Given the description of an element on the screen output the (x, y) to click on. 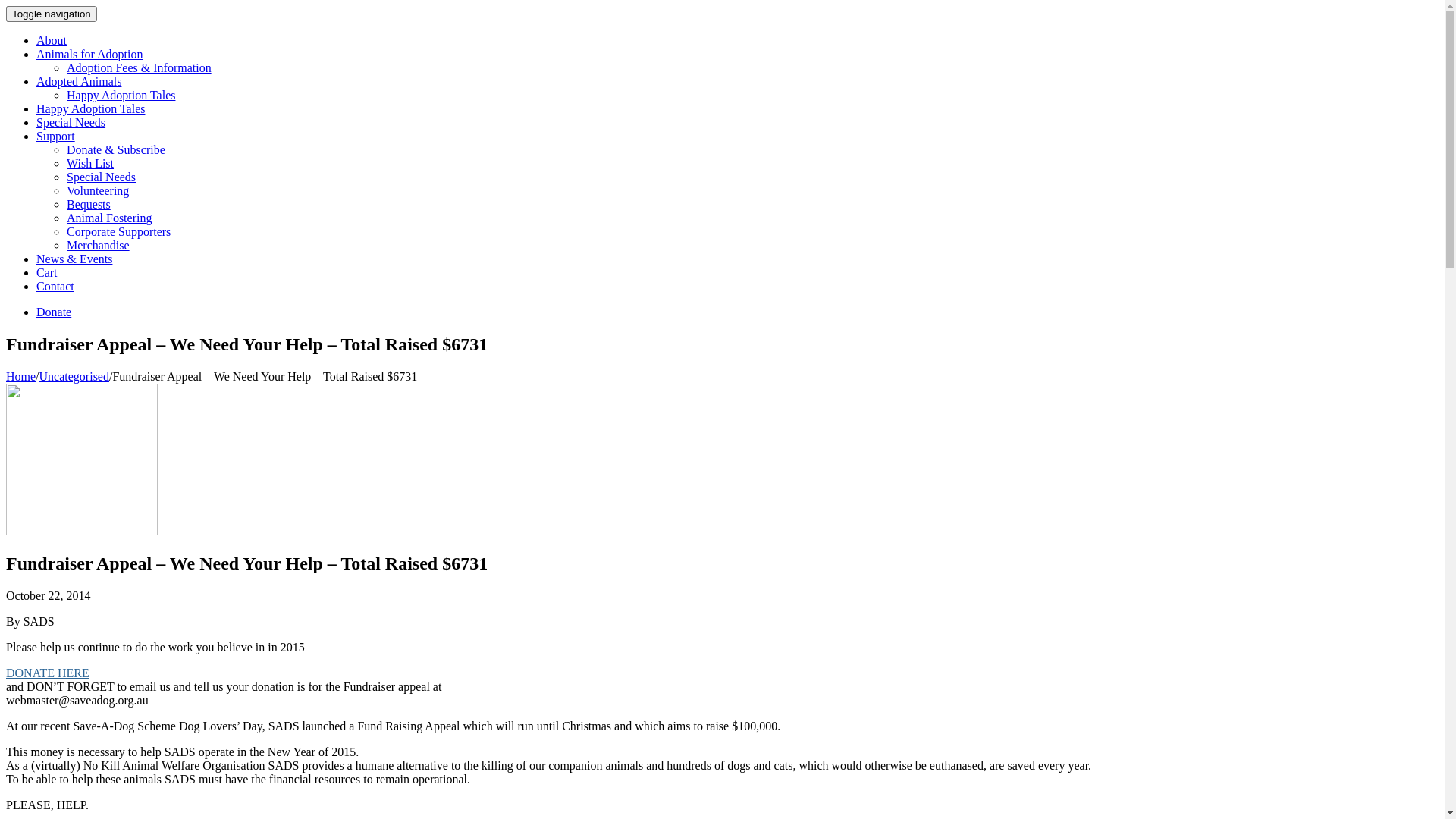
Happy Adoption Tales Element type: text (120, 94)
Merchandise Element type: text (97, 244)
Volunteering Element type: text (97, 190)
Animal Fostering Element type: text (108, 217)
Contact Element type: text (55, 285)
Animals for Adoption Element type: text (89, 53)
Home Element type: text (20, 376)
Happy Adoption Tales Element type: text (90, 108)
Special Needs Element type: text (100, 176)
Corporate Supporters Element type: text (118, 231)
DONATE HERE Element type: text (47, 672)
Wish List Element type: text (89, 162)
News & Events Element type: text (74, 258)
Support Element type: text (55, 135)
Adopted Animals Element type: text (78, 81)
Uncategorised Element type: text (74, 376)
Adoption Fees & Information Element type: text (138, 67)
Donate Element type: text (53, 311)
Toggle navigation Element type: text (51, 13)
Cart Element type: text (46, 272)
Special Needs Element type: text (70, 122)
About Element type: text (51, 40)
Donate & Subscribe Element type: text (115, 149)
Bequests Element type: text (88, 203)
